Given the description of an element on the screen output the (x, y) to click on. 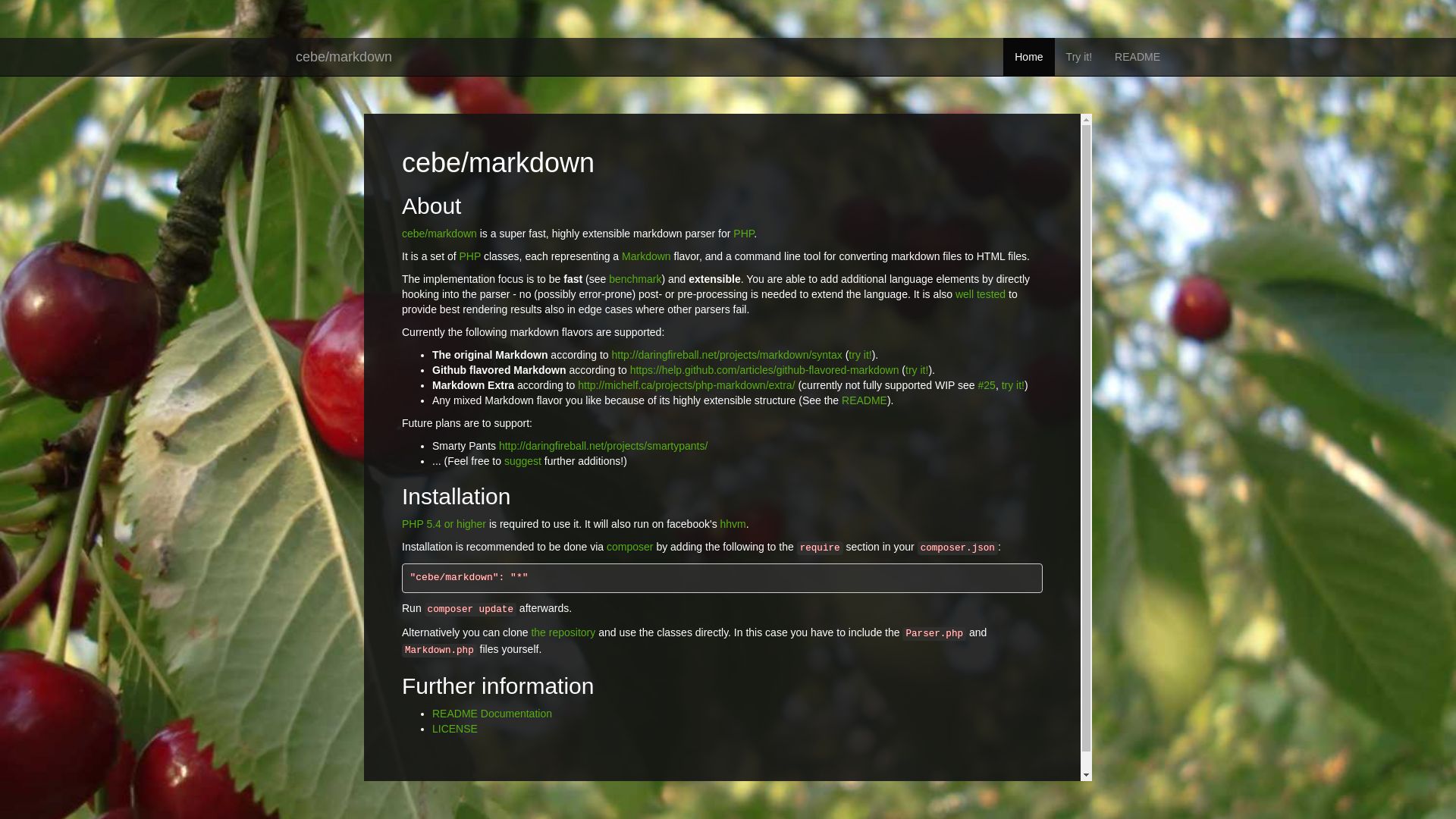
suggest Element type: text (522, 461)
cebe/markdown Element type: text (438, 233)
the repository Element type: text (562, 632)
#25 Element type: text (986, 385)
README Element type: text (864, 400)
try it! Element type: text (1012, 385)
LICENSE Element type: text (454, 728)
benchmark Element type: text (634, 279)
try it! Element type: text (916, 370)
README Element type: text (1137, 56)
PHP Element type: text (469, 256)
try it! Element type: text (859, 354)
http://daringfireball.net/projects/smartypants/ Element type: text (602, 445)
README Documentation Element type: text (492, 713)
Try it! Element type: text (1078, 56)
Markdown Element type: text (646, 256)
Home Element type: text (1028, 56)
https://help.github.com/articles/github-flavored-markdown Element type: text (764, 370)
well tested Element type: text (980, 294)
composer Element type: text (629, 546)
PHP Element type: text (743, 233)
http://daringfireball.net/projects/markdown/syntax Element type: text (726, 354)
hhvm Element type: text (733, 523)
PHP 5.4 or higher Element type: text (443, 523)
cebe/markdown Element type: text (343, 56)
http://michelf.ca/projects/php-markdown/extra/ Element type: text (685, 385)
